Given the description of an element on the screen output the (x, y) to click on. 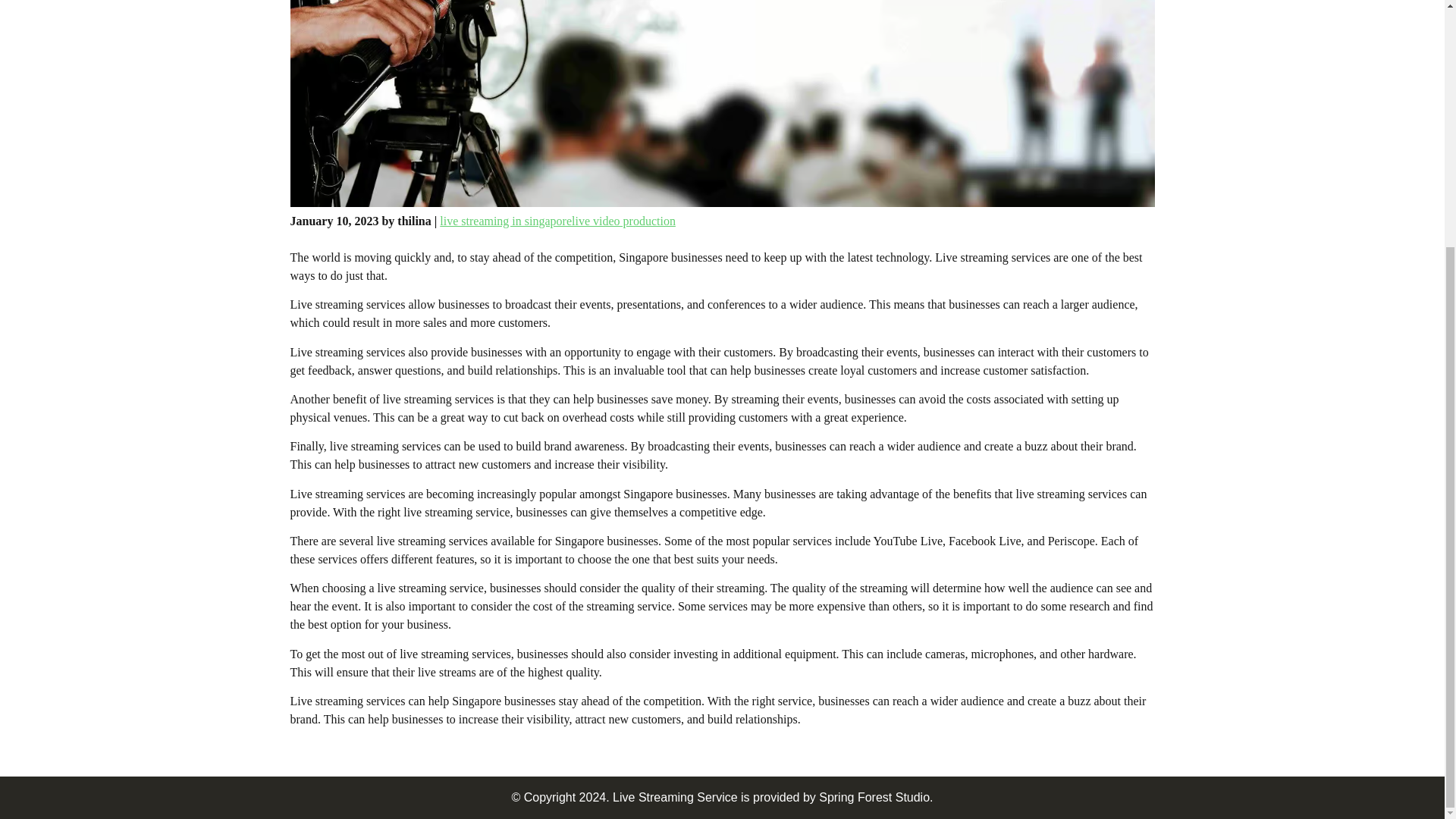
live streaming in singapore (505, 220)
Spring Forest Studio (874, 797)
Live Streaming Service (675, 797)
live video production (623, 220)
